Given the description of an element on the screen output the (x, y) to click on. 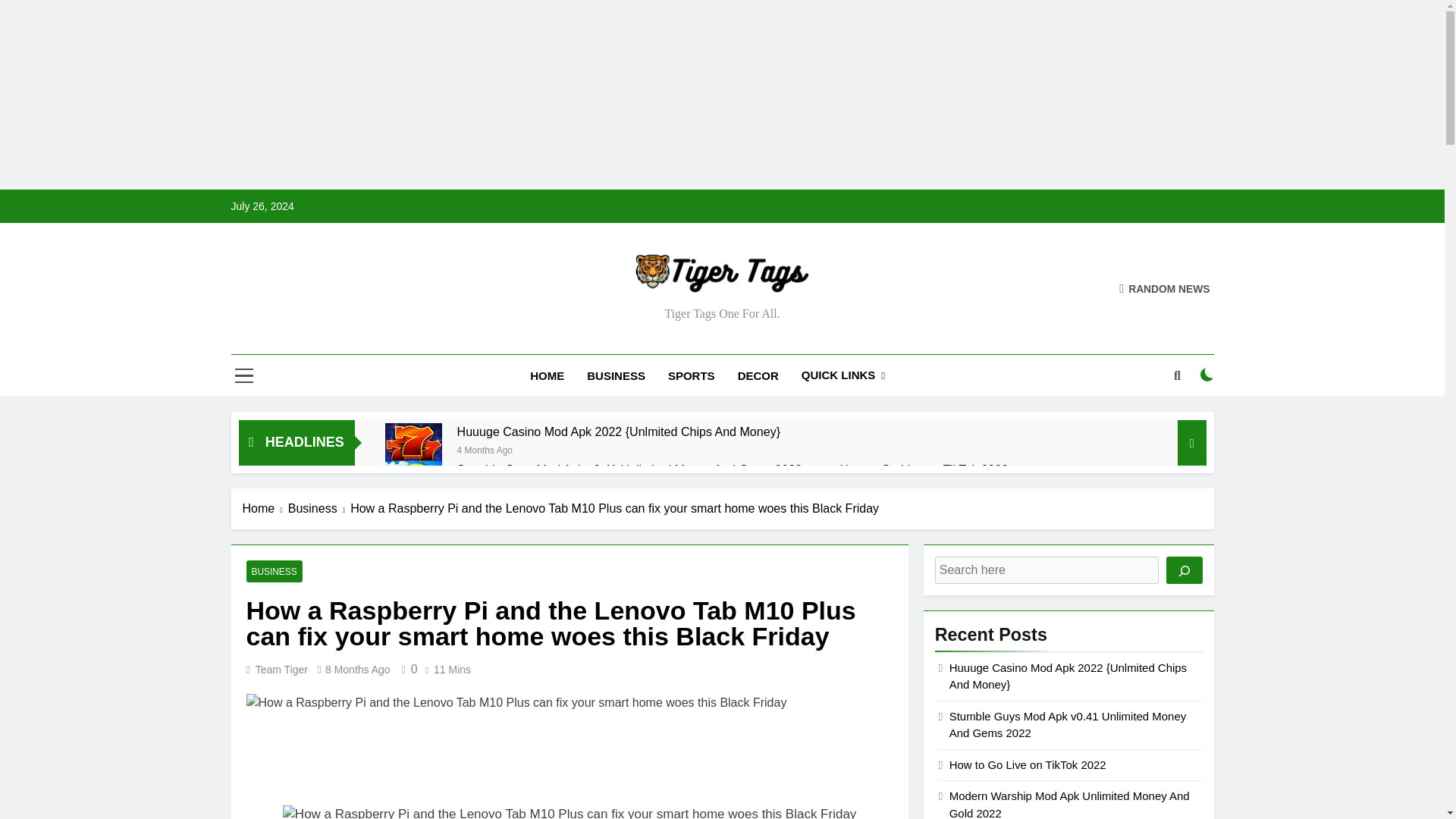
QUICK LINKS (843, 375)
DECOR (758, 375)
How to Go Live on TikTok 2022 (924, 469)
How to Go Live on TikTok 2022 (924, 469)
Stumble Guys Mod Apk v0.41 Unlimited Money And Gems 2022 (629, 469)
on (1206, 374)
RANDOM NEWS (1164, 287)
BUSINESS (615, 375)
4 Months Ago (484, 449)
Stumble Guys Mod Apk v0.41 Unlimited Money And Gems 2022 (629, 469)
SPORTS (691, 375)
HOME (546, 375)
Stumble Guys Mod Apk v0.41 Unlimited Money And Gems 2022 (413, 489)
